Given the description of an element on the screen output the (x, y) to click on. 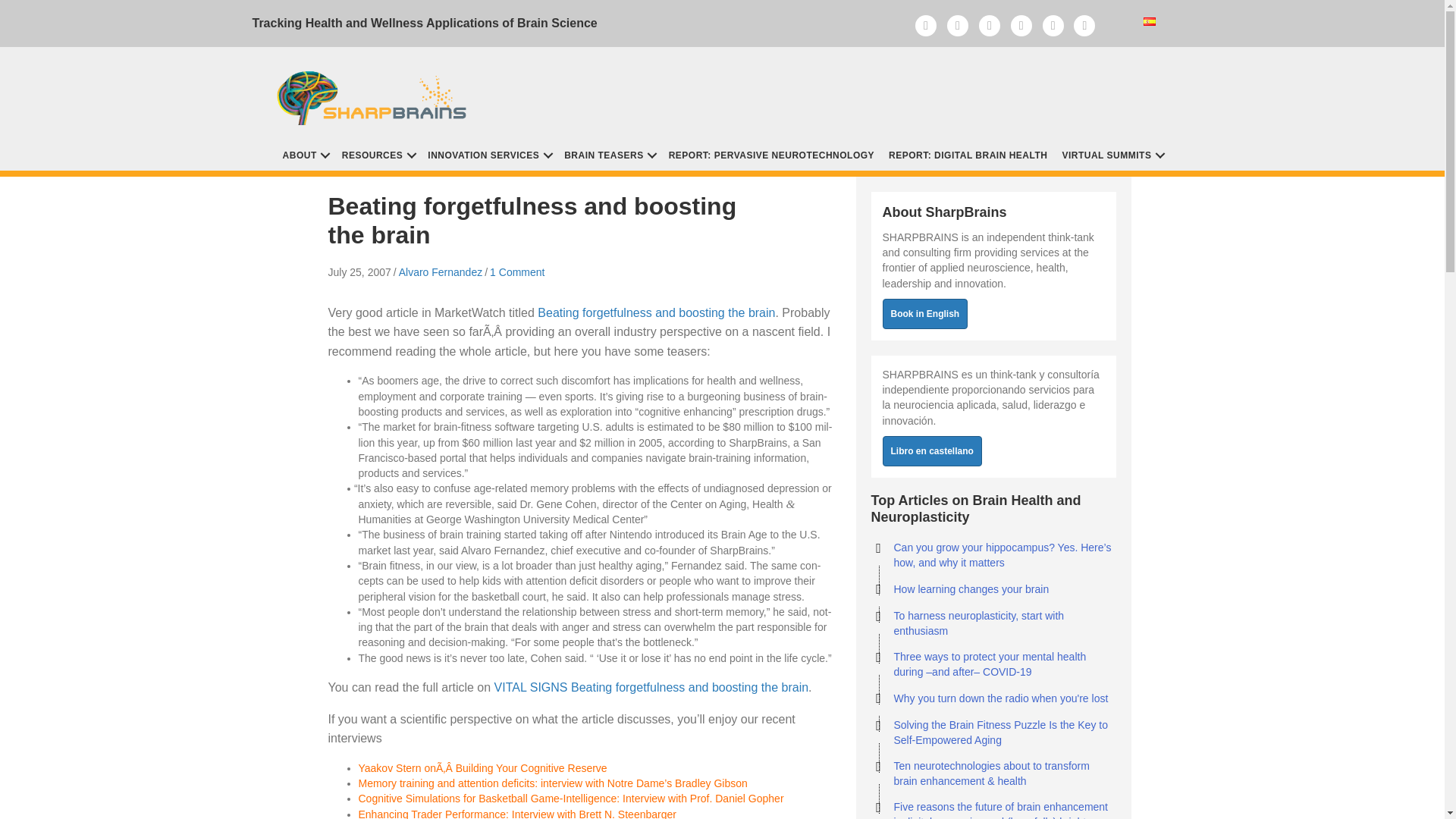
BRAIN TEASERS (609, 154)
REPORT: PERVASIVE NEUROTECHNOLOGY (771, 154)
RESOURCES (377, 154)
sb-logo-with-brain (374, 93)
1 Comment (516, 272)
INNOVATION SERVICES (488, 154)
VIRTUAL SUMMITS (1111, 154)
es (1149, 21)
Permanent Link to Yaakov Stern: Build Your Cognitive Reserve (482, 767)
ABOUT (305, 154)
Alvaro Fernandez (440, 272)
REPORT: DIGITAL BRAIN HEALTH (968, 154)
